Given the description of an element on the screen output the (x, y) to click on. 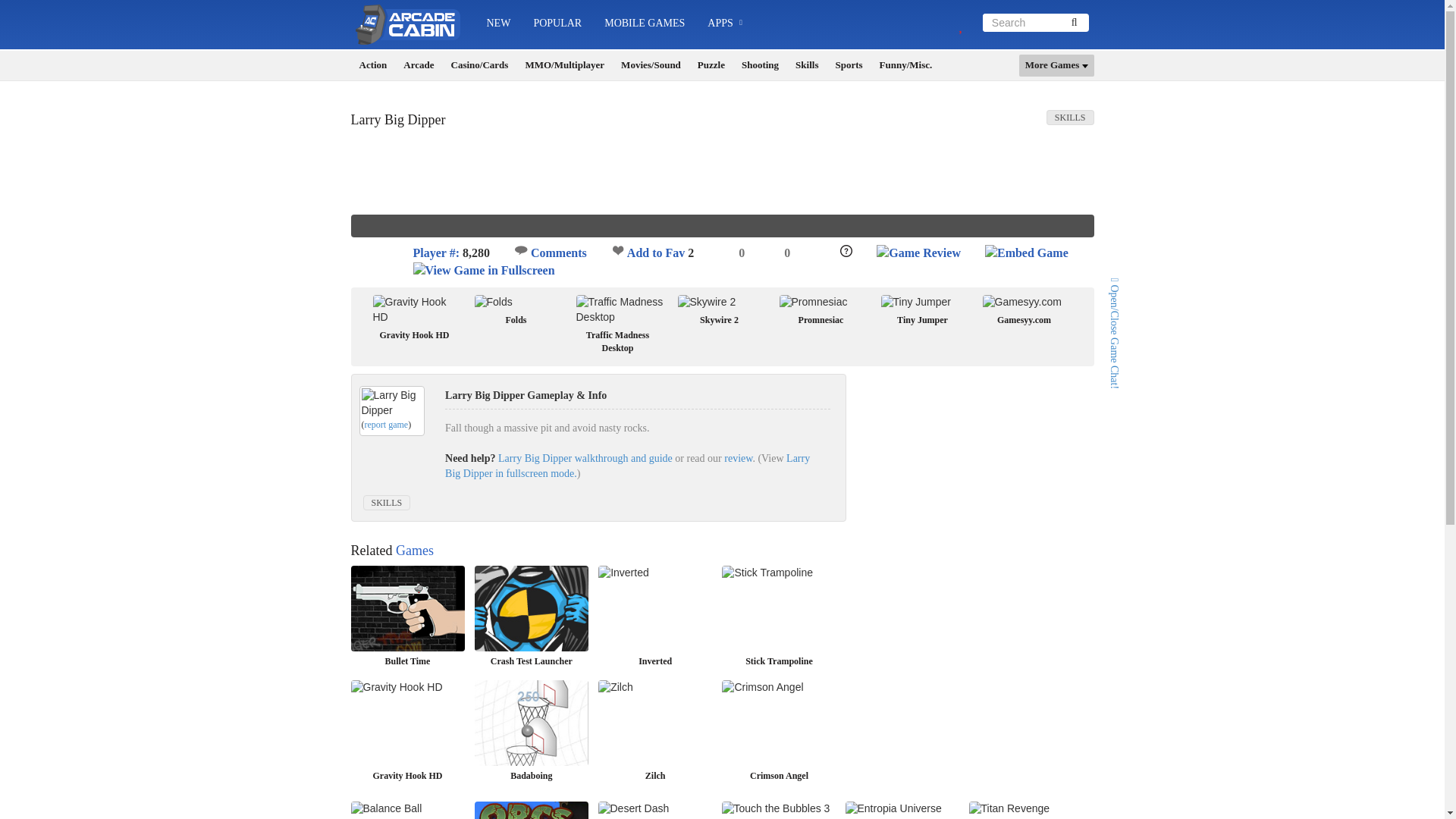
NEW (497, 23)
Shooting (759, 65)
Puzzle (710, 65)
Skills (806, 65)
View Game in Fullscreen (483, 271)
Embed Game (1026, 253)
MOBILE GAMES (643, 23)
Game Review (918, 253)
More Games (1056, 65)
APPS (724, 23)
Arcade (418, 65)
Add to My Favorites (617, 249)
Action (373, 65)
Sports (847, 65)
POPULAR (556, 23)
